Given the description of an element on the screen output the (x, y) to click on. 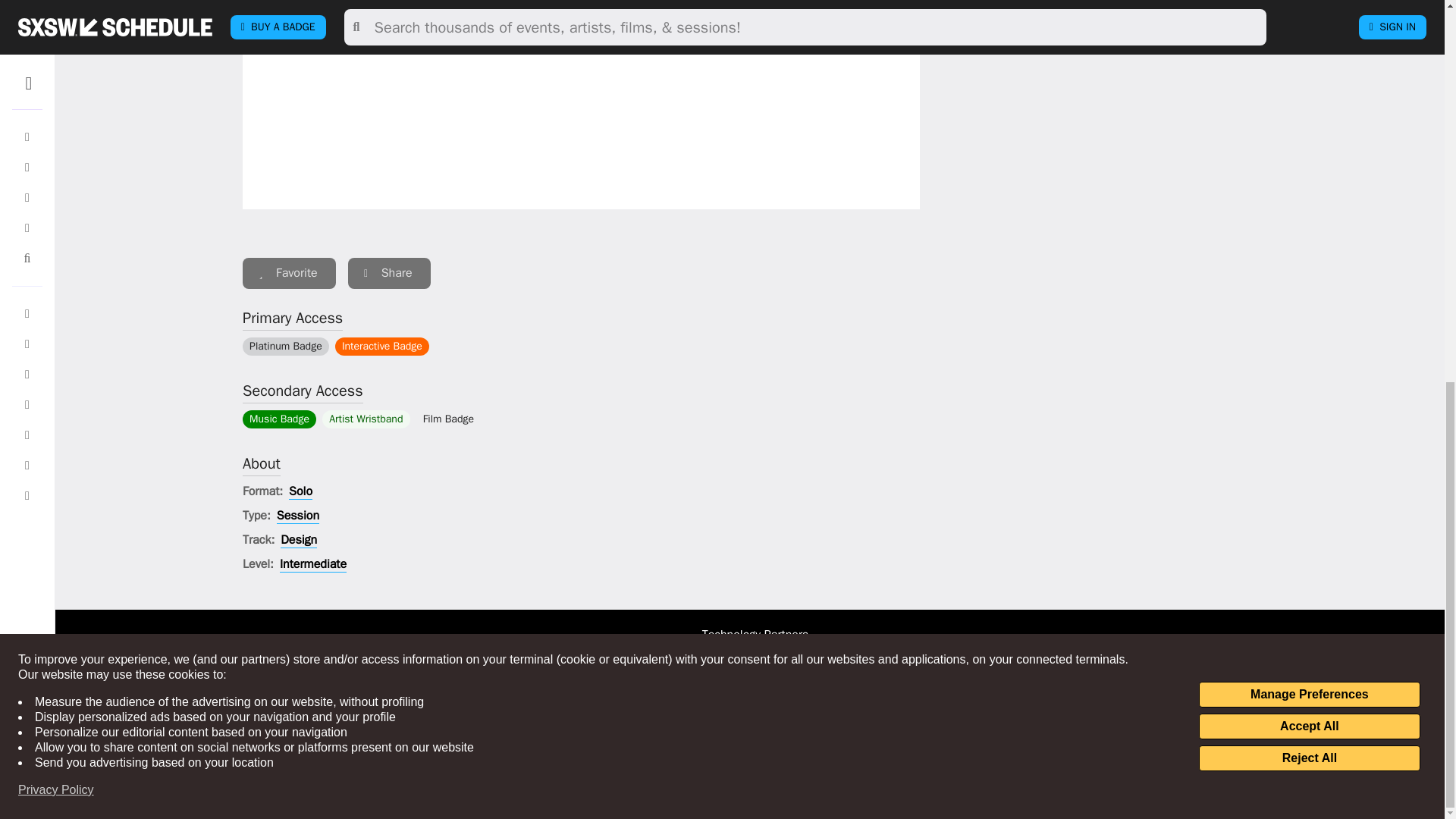
Accept All (1309, 13)
Reject All (1309, 45)
Sign In to add to your favorites. (289, 273)
Privacy Policy (55, 77)
